Given the description of an element on the screen output the (x, y) to click on. 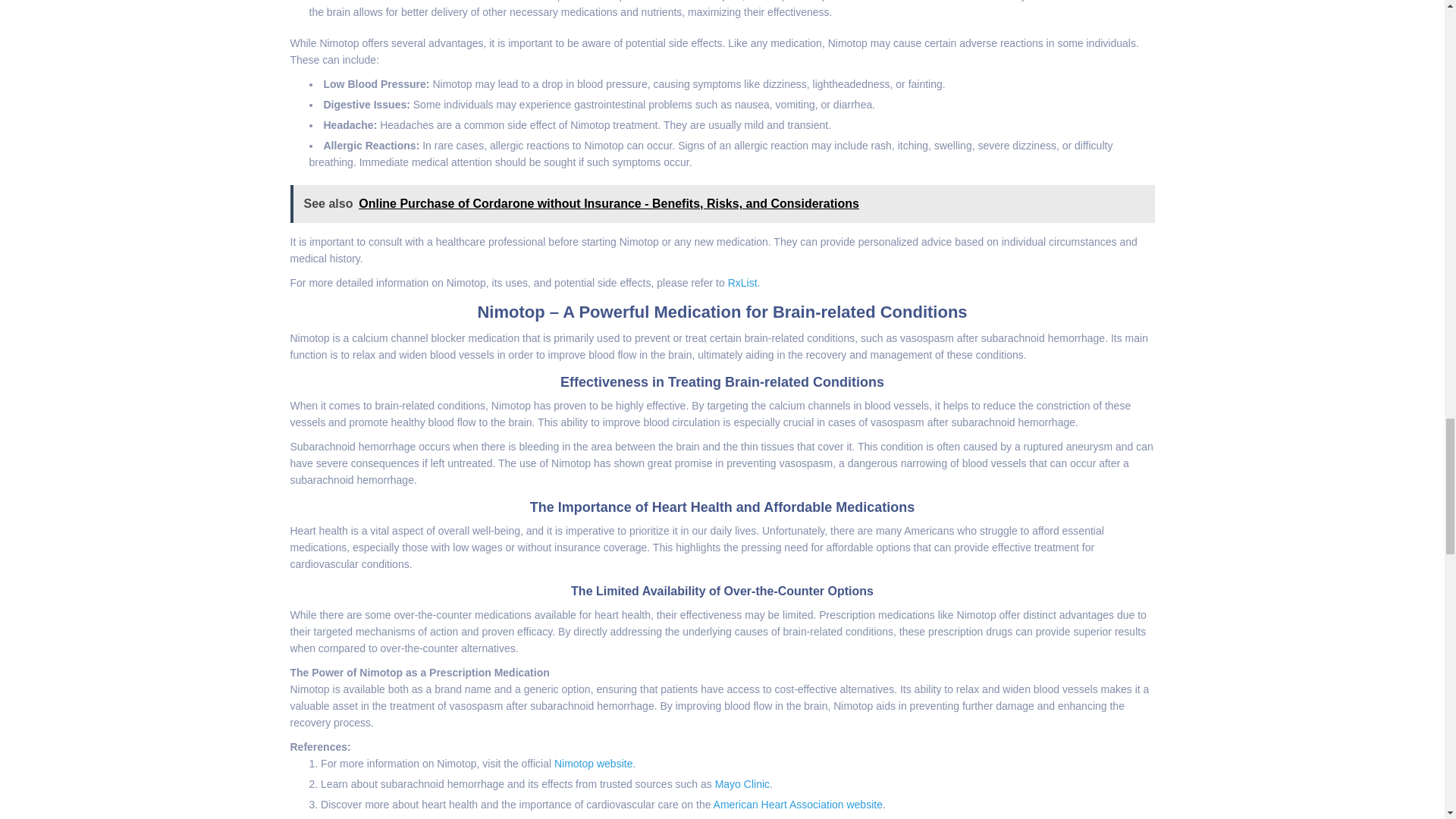
American Heart Association website (797, 804)
Mayo Clinic (742, 784)
Nimotop website (593, 763)
RxList (742, 282)
